Given the description of an element on the screen output the (x, y) to click on. 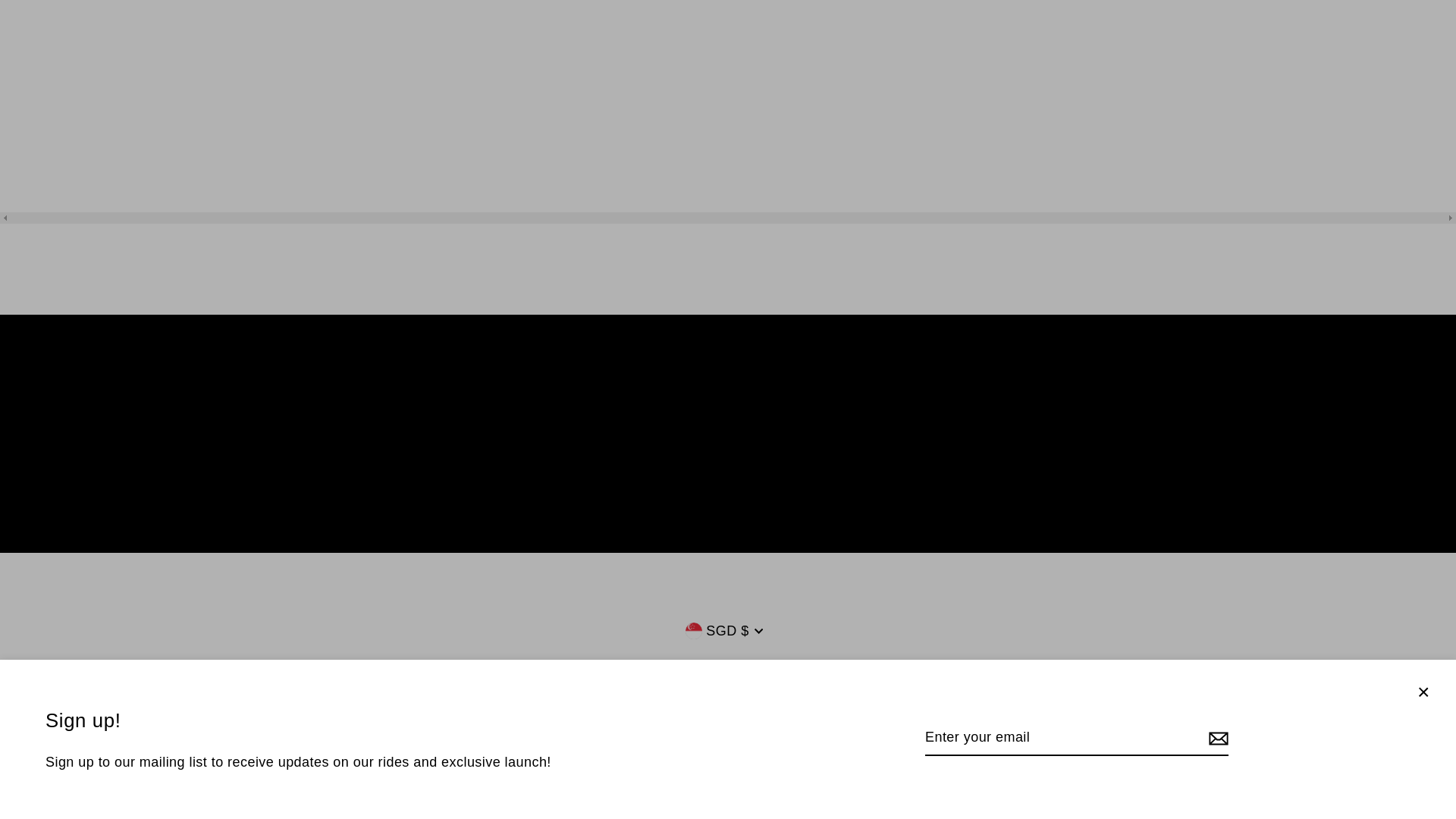
American Express (605, 775)
Shop Pay (779, 775)
Union Pay (814, 775)
PayPal (745, 775)
Apple Pay (640, 775)
Google Pay (675, 775)
Visa (849, 775)
Mastercard (710, 775)
